Given the description of an element on the screen output the (x, y) to click on. 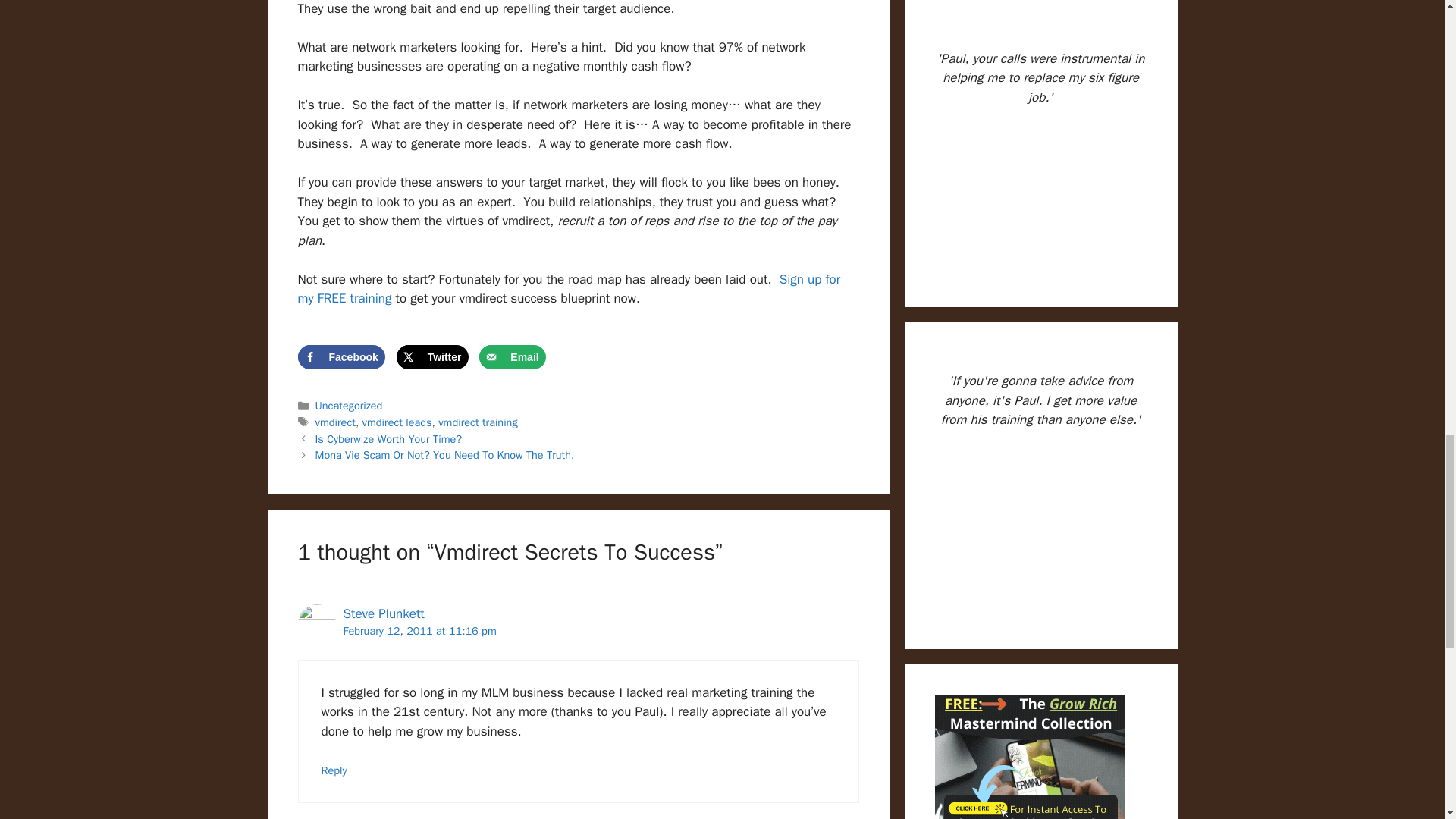
Is Cyberwize Worth Your Time? (389, 438)
vmdirect leads (397, 422)
Sign up for my FREE training (568, 289)
Send over email (511, 356)
Uncategorized (348, 405)
vmdirect (335, 422)
YouTube video player (1040, 530)
vmdirect training (477, 422)
YouTube video player (1040, 189)
Mona Vie Scam Or Not? You Need To Know The Truth. (445, 454)
Facebook (340, 356)
Reply (334, 770)
Steve Plunkett (382, 613)
Email (511, 356)
February 12, 2011 at 11:16 pm (419, 631)
